Given the description of an element on the screen output the (x, y) to click on. 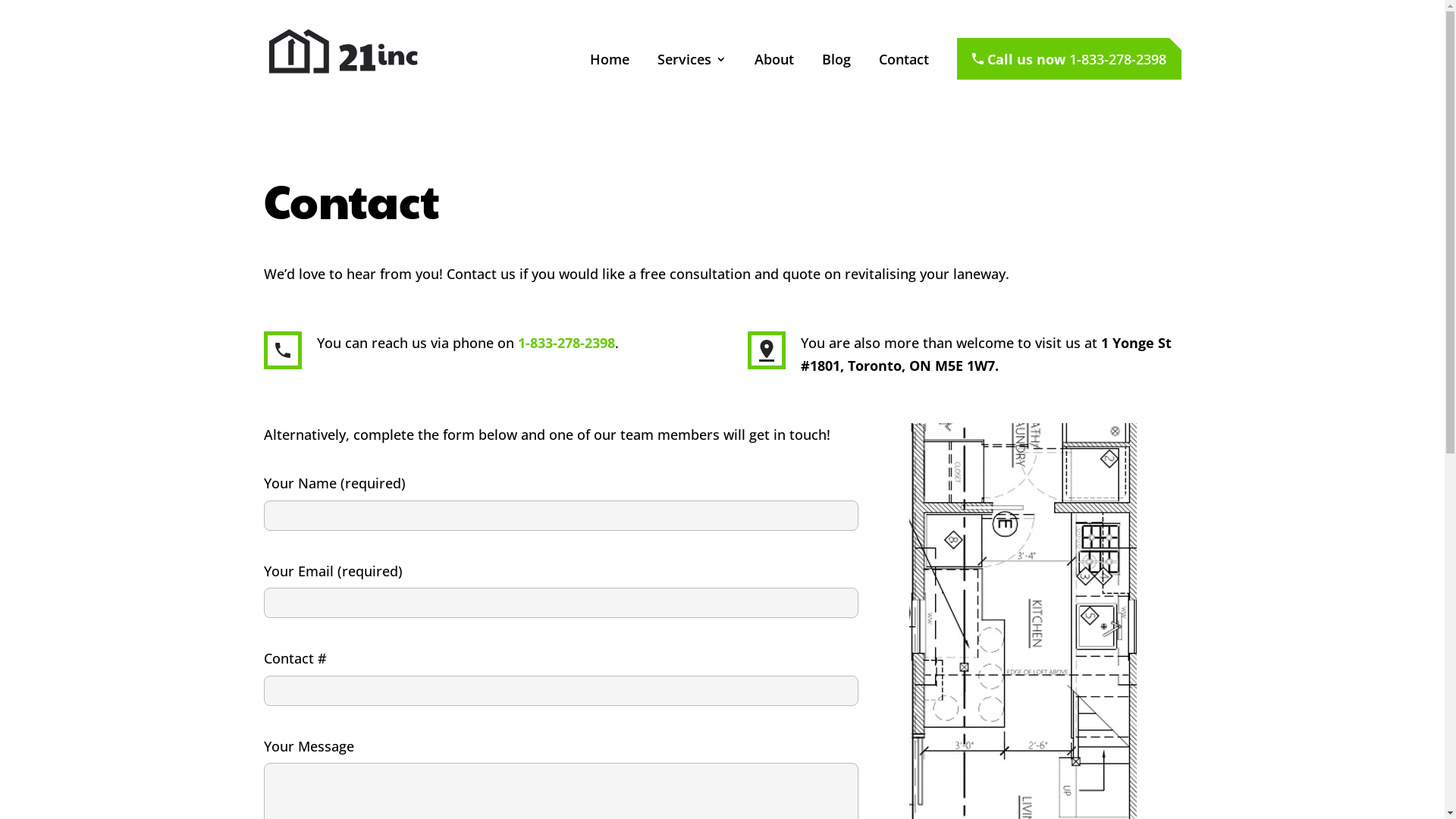
Contact Element type: text (903, 77)
Home Element type: text (609, 77)
About Element type: text (773, 77)
Call us now 1-833-278-2398 Element type: text (1069, 58)
Services Element type: text (690, 77)
1-833-278-2398 Element type: text (565, 342)
Blog Element type: text (836, 77)
